Given the description of an element on the screen output the (x, y) to click on. 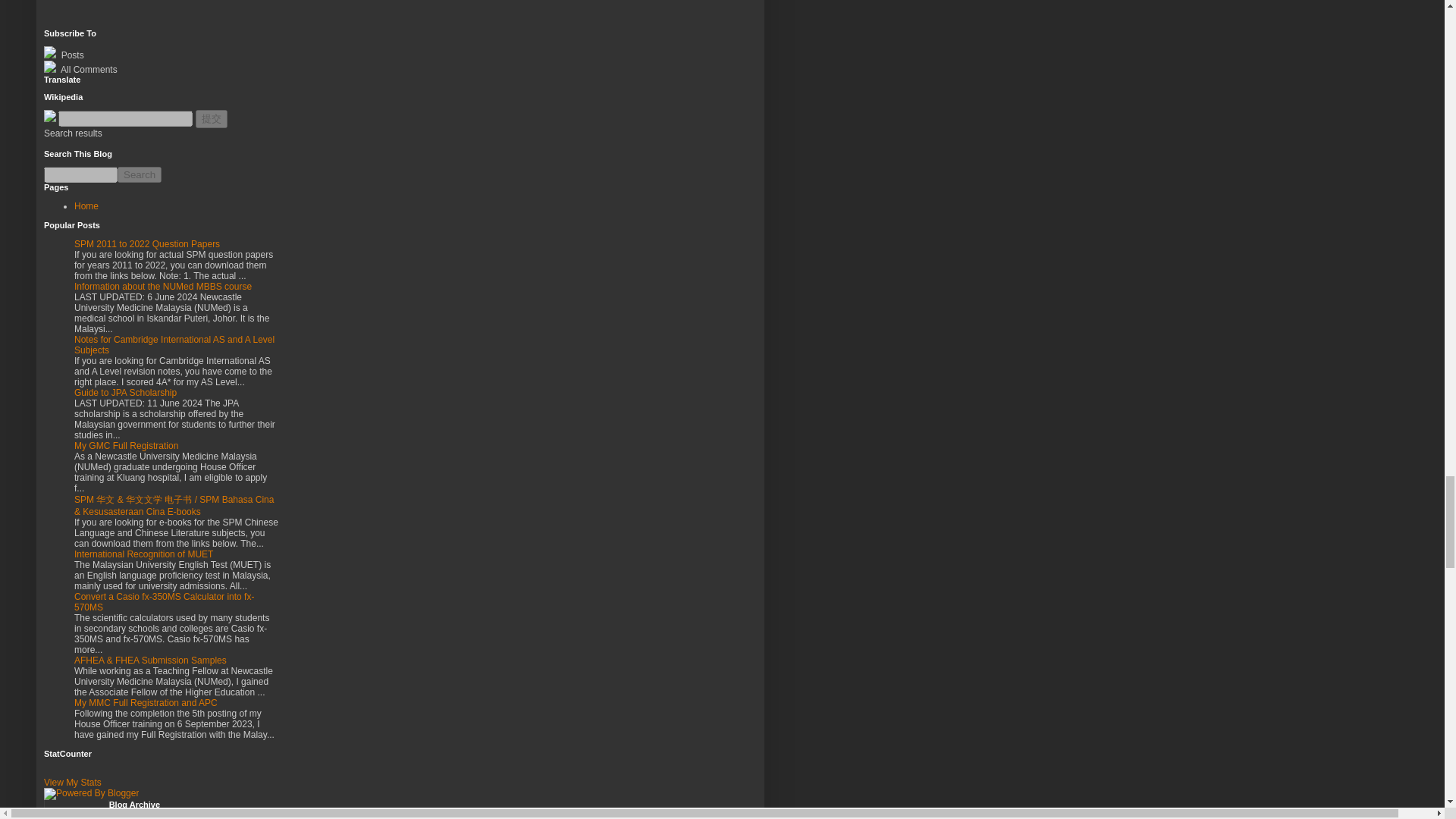
Search (139, 174)
Search (139, 174)
